Given the description of an element on the screen output the (x, y) to click on. 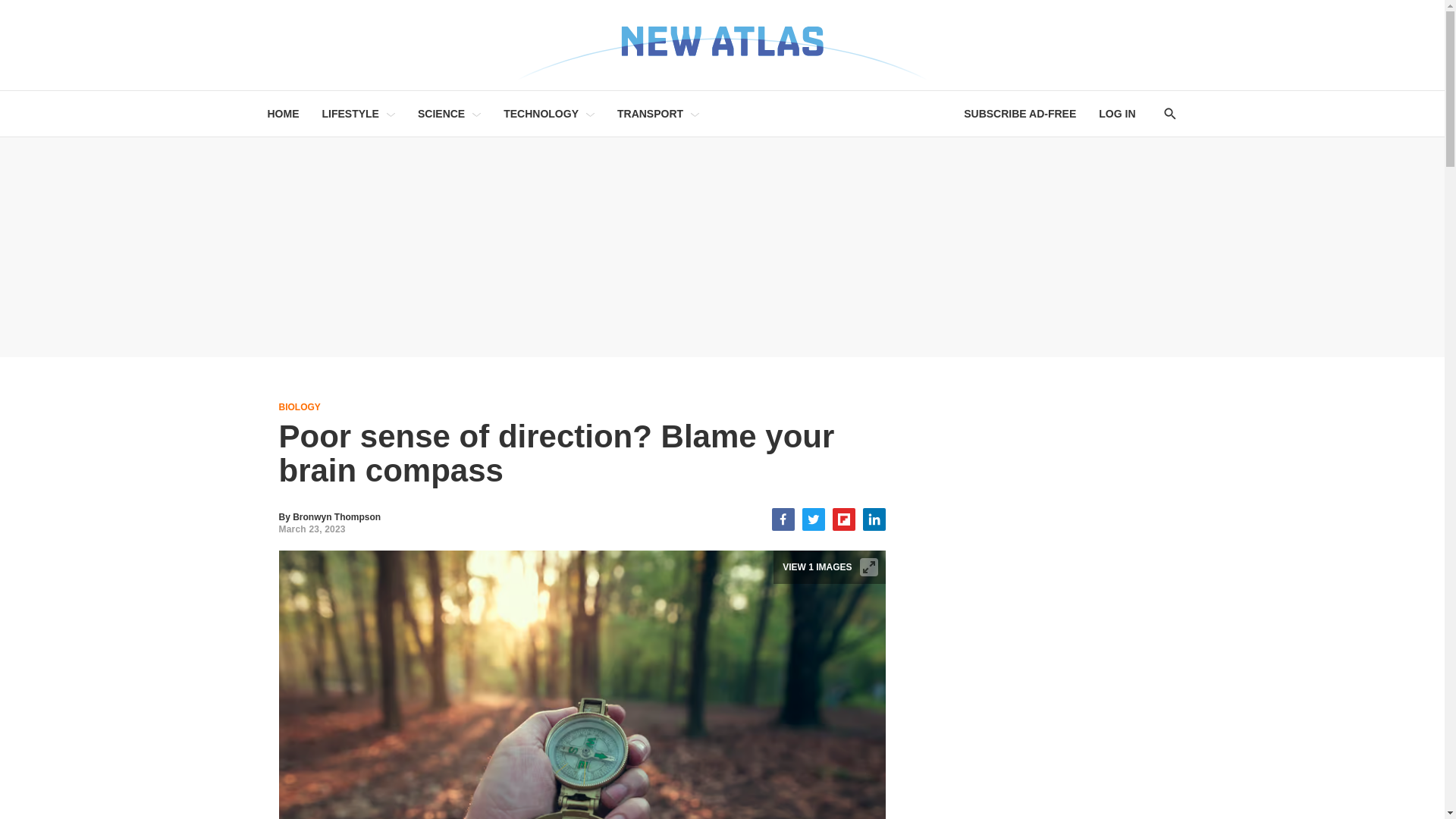
View full-screen (868, 566)
